Given the description of an element on the screen output the (x, y) to click on. 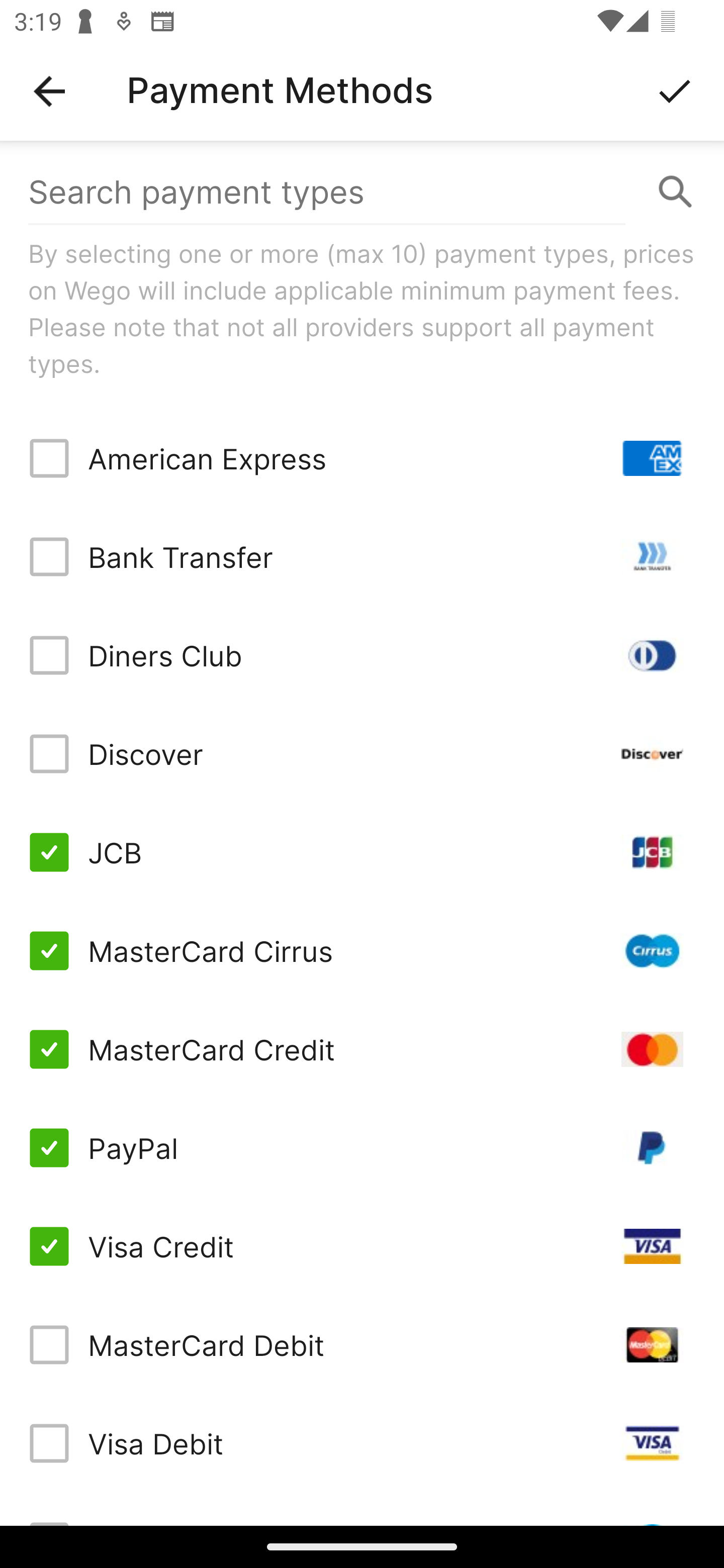
Search payment types  (361, 191)
American Express (362, 458)
Bank Transfer (362, 557)
Diners Club (362, 655)
Discover (362, 753)
JCB (362, 851)
MasterCard Cirrus (362, 950)
MasterCard Credit (362, 1049)
PayPal (362, 1147)
Visa Credit (362, 1245)
MasterCard Debit (362, 1344)
Visa Debit (362, 1442)
